Given the description of an element on the screen output the (x, y) to click on. 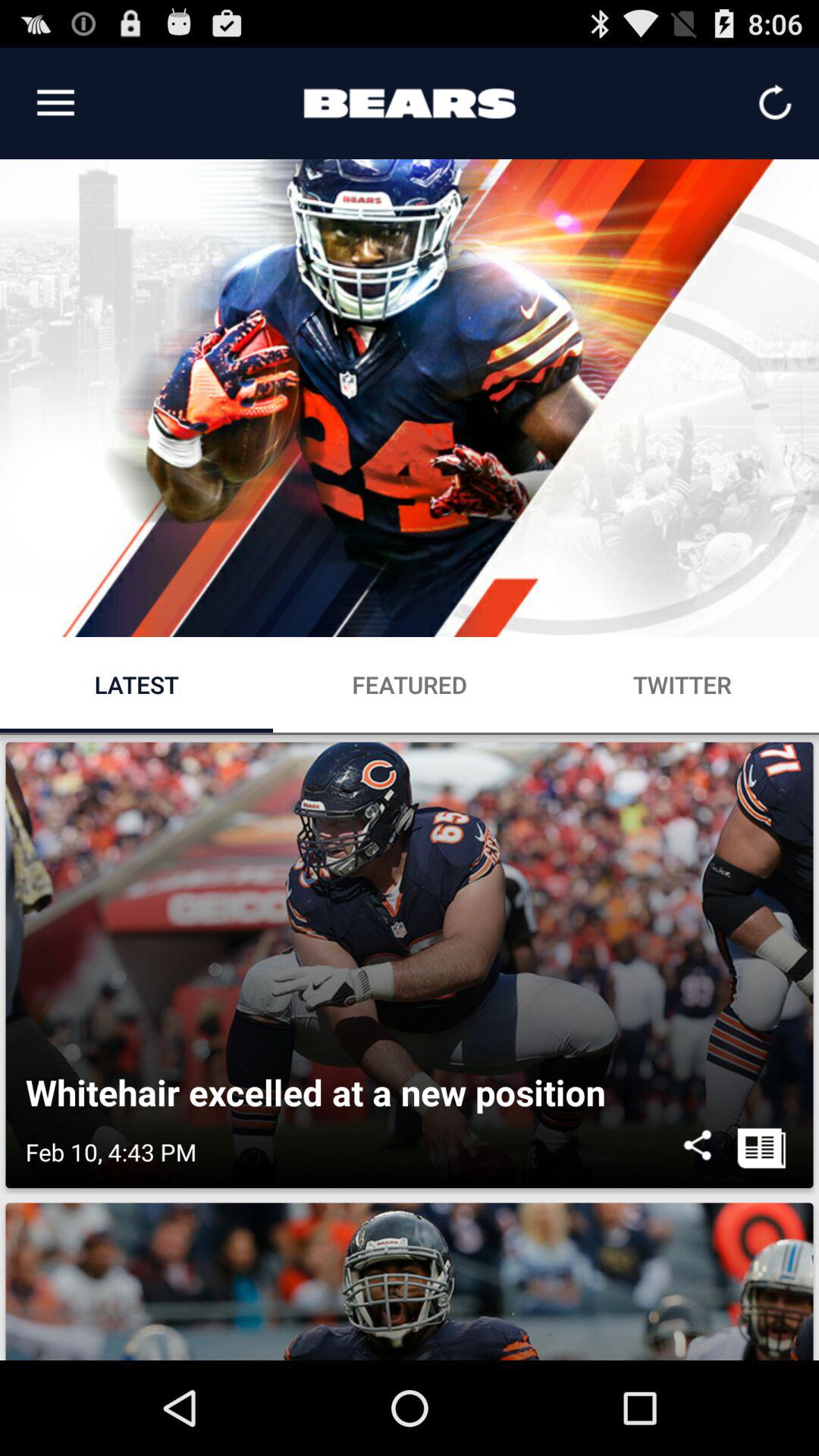
launch the icon at the top left corner (55, 103)
